Given the description of an element on the screen output the (x, y) to click on. 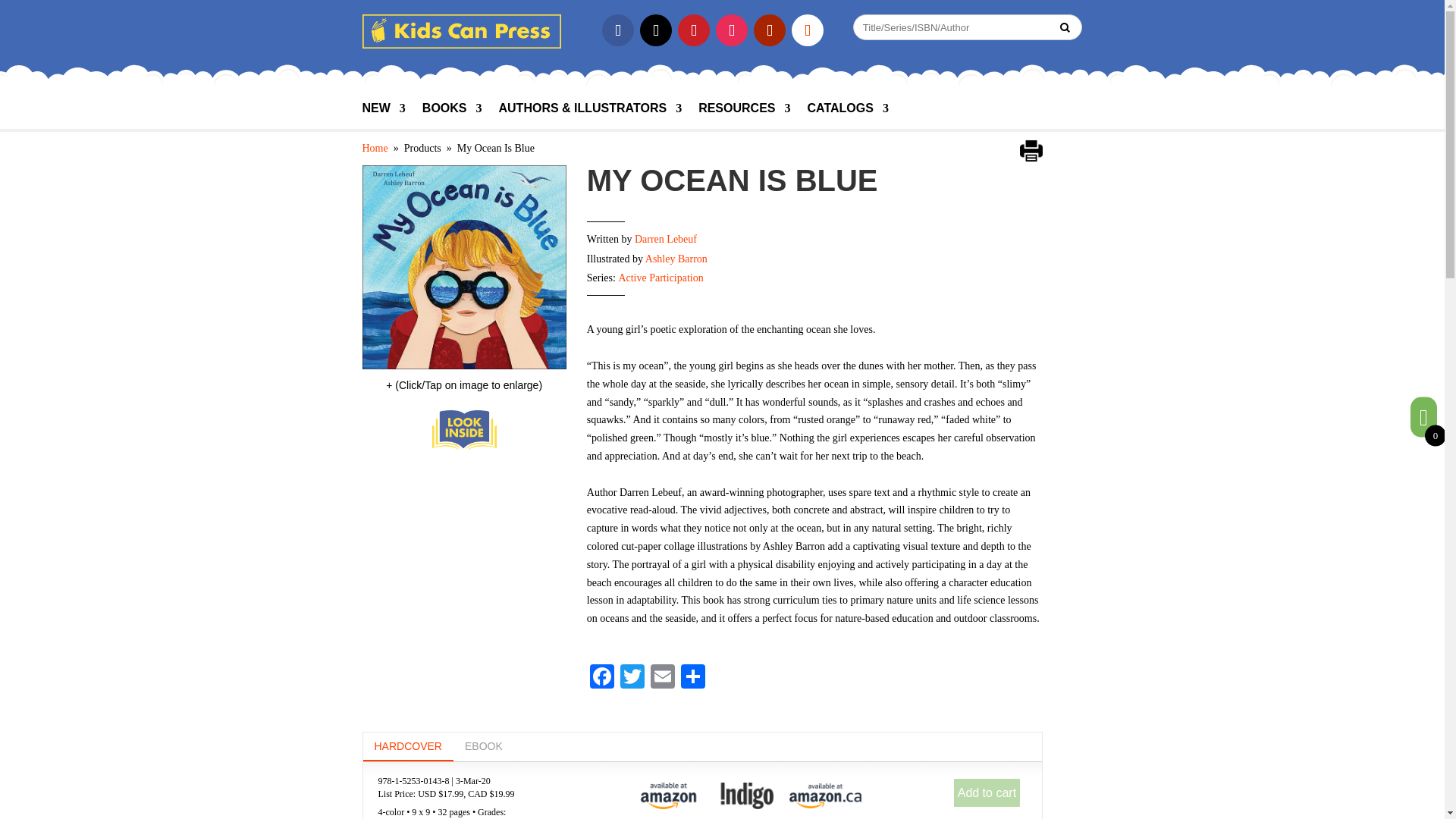
Kids Can Press - Logo and Link (462, 31)
Follow on Instagram (732, 29)
BOOKS (451, 115)
Follow on Vimeo (808, 29)
RESOURCES (744, 115)
Twitter (632, 678)
NEW (384, 115)
KCP Logo (462, 44)
Follow on Facebook (617, 29)
Follow on Youtube (770, 29)
